Given the description of an element on the screen output the (x, y) to click on. 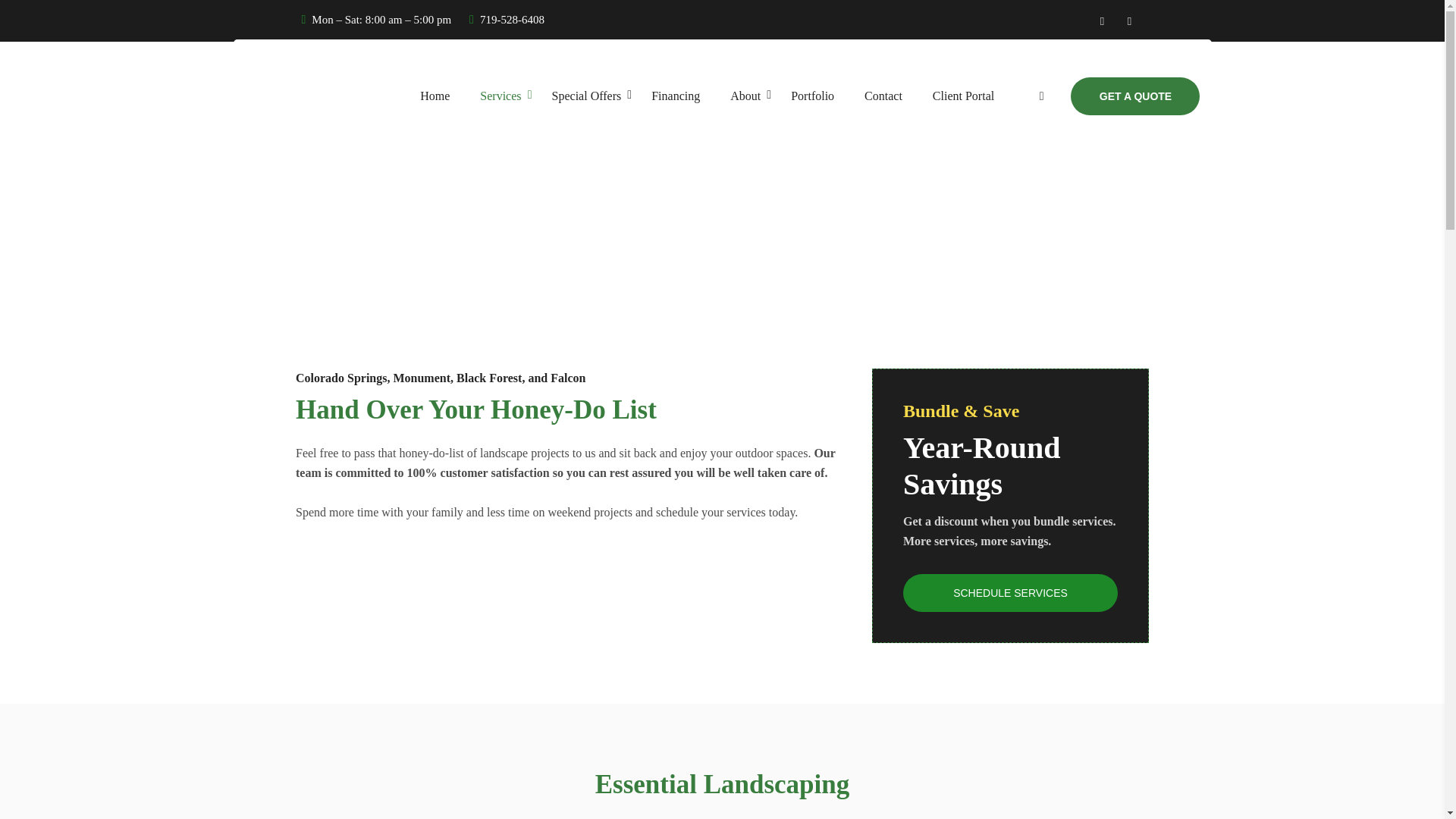
All Services (683, 176)
Service (987, 267)
Contact (882, 95)
Search (1101, 150)
Landscape Maintenance (683, 255)
Special Offers (587, 95)
Financing (675, 95)
Services (499, 95)
Client Portal (963, 95)
Financing (675, 95)
